Given the description of an element on the screen output the (x, y) to click on. 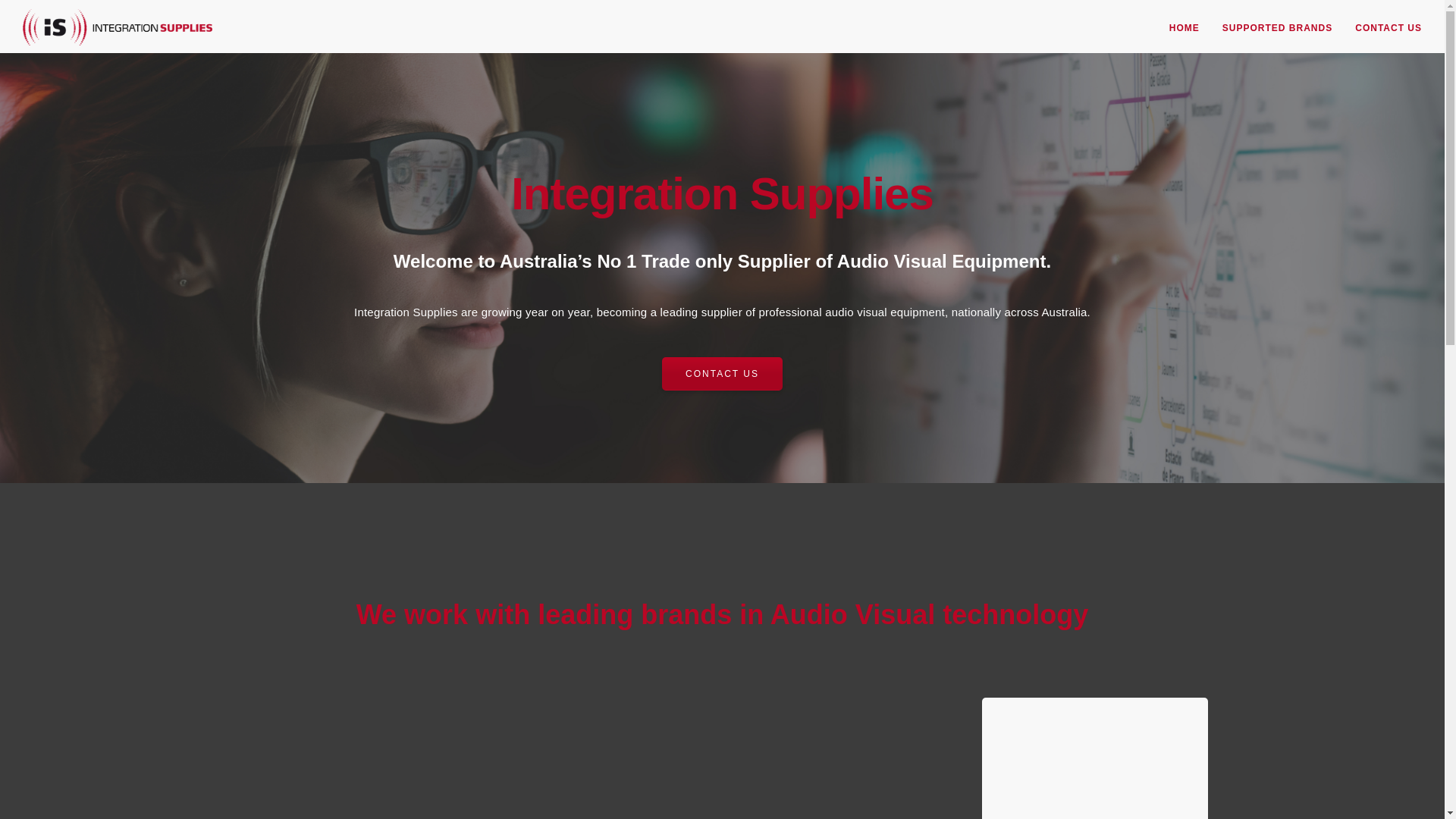
SUPPORTED BRANDS Element type: text (1277, 27)
CONTACT US Element type: text (722, 373)
CONTACT US Element type: text (1388, 27)
HOME Element type: text (1184, 27)
